Given the description of an element on the screen output the (x, y) to click on. 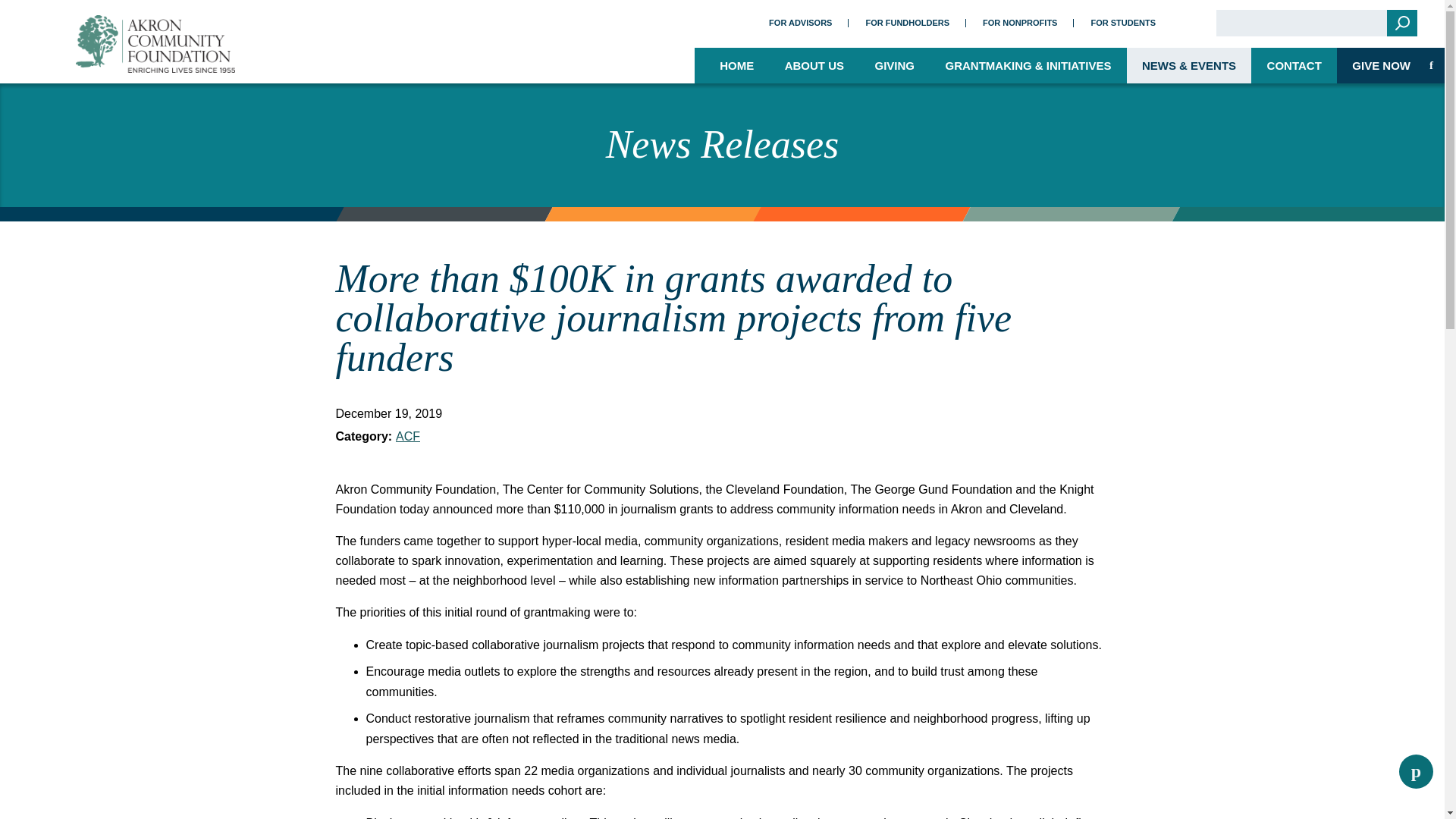
Search (1401, 22)
